Given the description of an element on the screen output the (x, y) to click on. 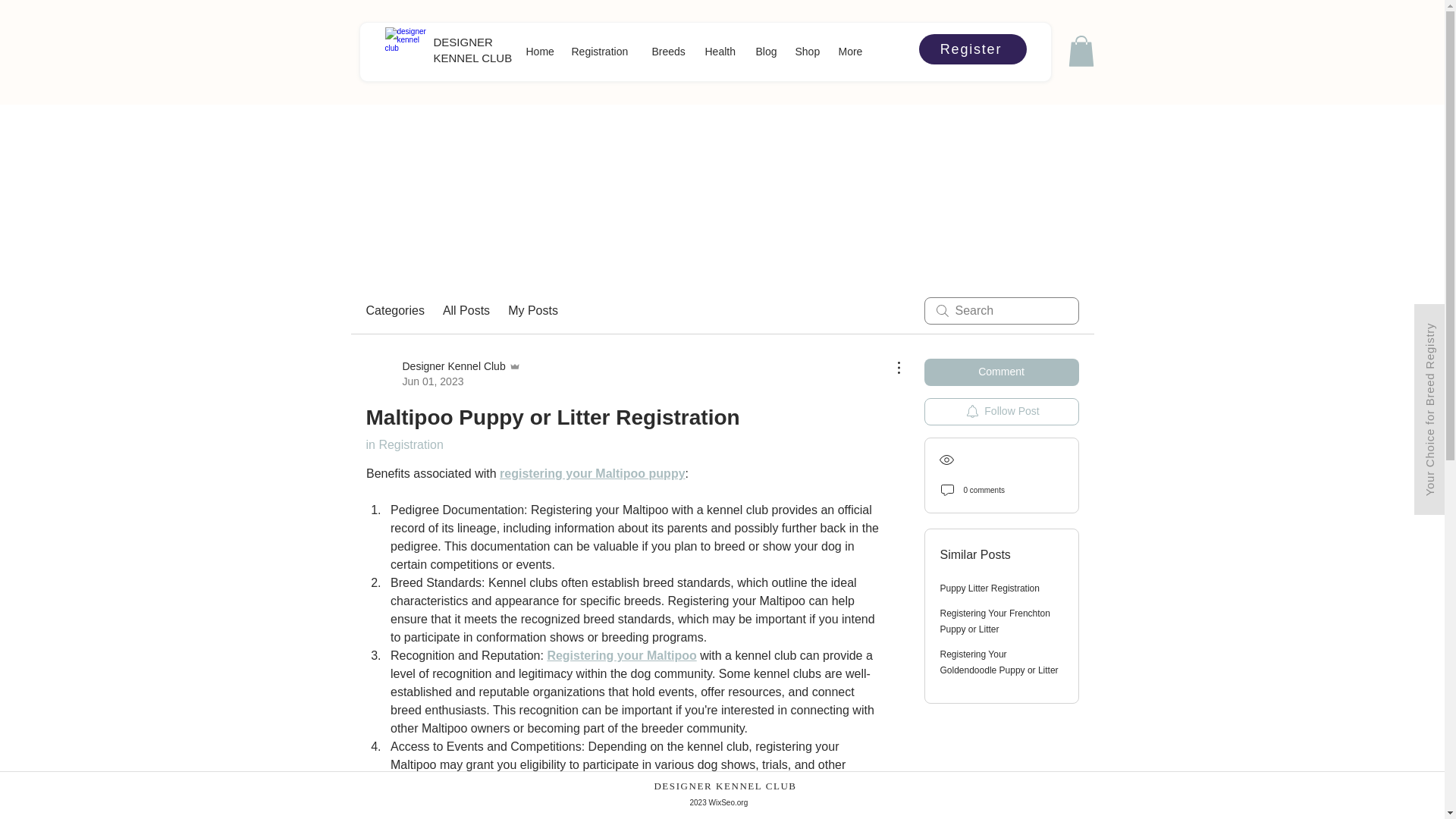
Categories (394, 311)
My Posts (532, 311)
in Registration (403, 444)
Register (972, 49)
Registering your Maltipoo (621, 655)
DESIGNER KENNEL CLUB (472, 50)
Registering Your Goldendoodle Puppy or Litter (999, 662)
2023 WixSeo.org (719, 801)
Comment (1000, 371)
Registration (604, 51)
registering your Maltipoo puppy (591, 472)
Puppy Litter Registration (989, 588)
Shop (808, 51)
Blog (767, 51)
Home (541, 51)
